Given the description of an element on the screen output the (x, y) to click on. 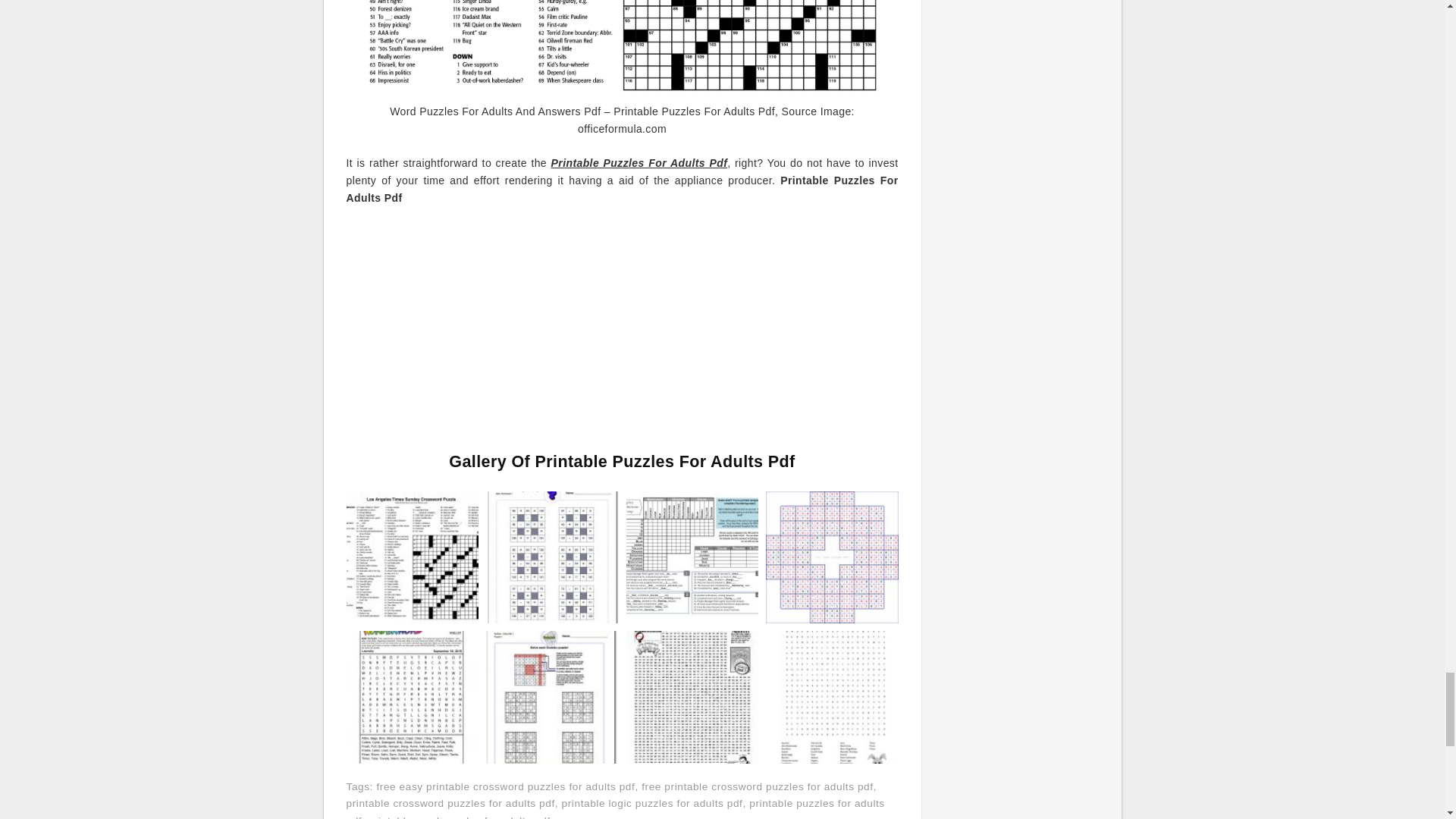
printable puzzles for adults pdf (614, 808)
free easy printable crossword puzzles for adults pdf (504, 786)
printable logic puzzles for adults pdf (652, 803)
free printable crossword puzzles for adults pdf (757, 786)
printable word puzzles for adults pdf (459, 816)
printable crossword puzzles for adults pdf (450, 803)
